Given the description of an element on the screen output the (x, y) to click on. 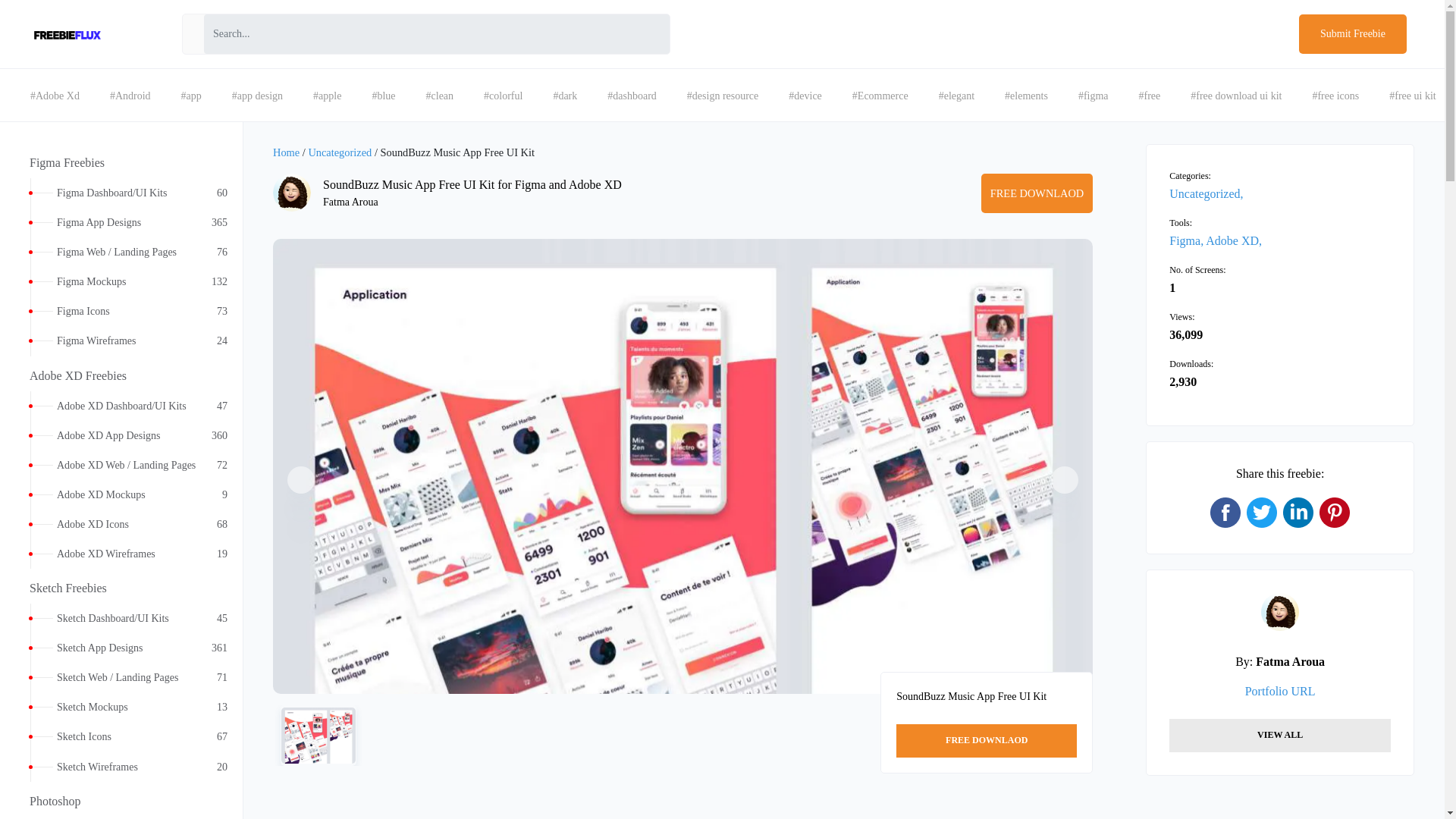
Submit Freebie (1352, 34)
Download freebies from dark tag (564, 95)
Download freebies from figma tag (1093, 95)
Download freebies from elegant tag (956, 95)
Download freebies from elements tag (1026, 95)
Download freebies from Adobe Xd tag (54, 95)
Download freebies from Android tag (129, 95)
Download freebies from free download ui kit tag (1235, 95)
Download freebies from clean tag (439, 95)
Download freebies from dashboard tag (631, 95)
